Given the description of an element on the screen output the (x, y) to click on. 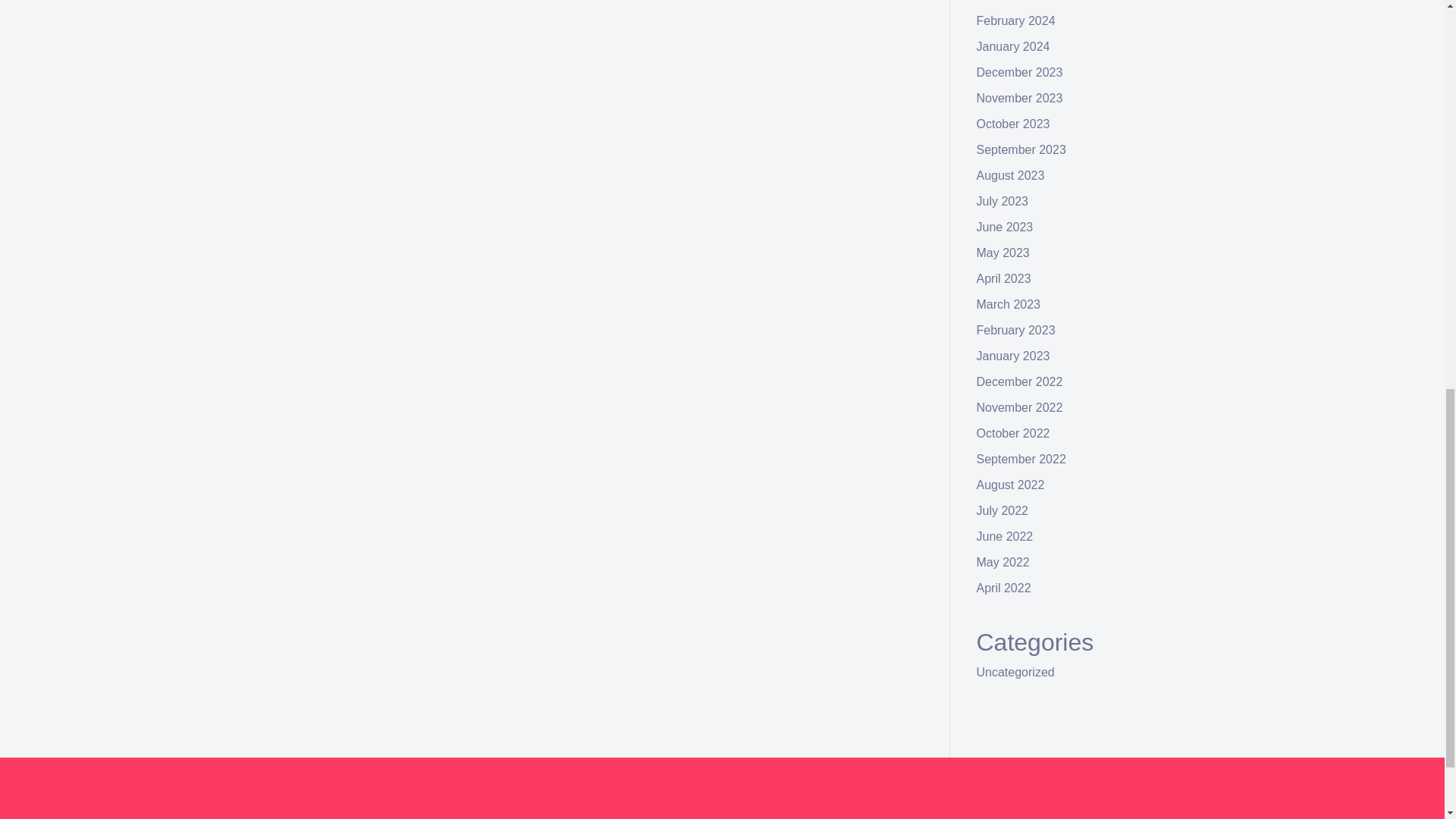
November 2022 (1019, 407)
October 2022 (1012, 432)
August 2022 (1010, 484)
March 2024 (1008, 0)
February 2024 (1015, 20)
August 2023 (1010, 174)
September 2022 (1020, 459)
September 2023 (1020, 149)
December 2022 (1019, 381)
June 2023 (1004, 226)
